Given the description of an element on the screen output the (x, y) to click on. 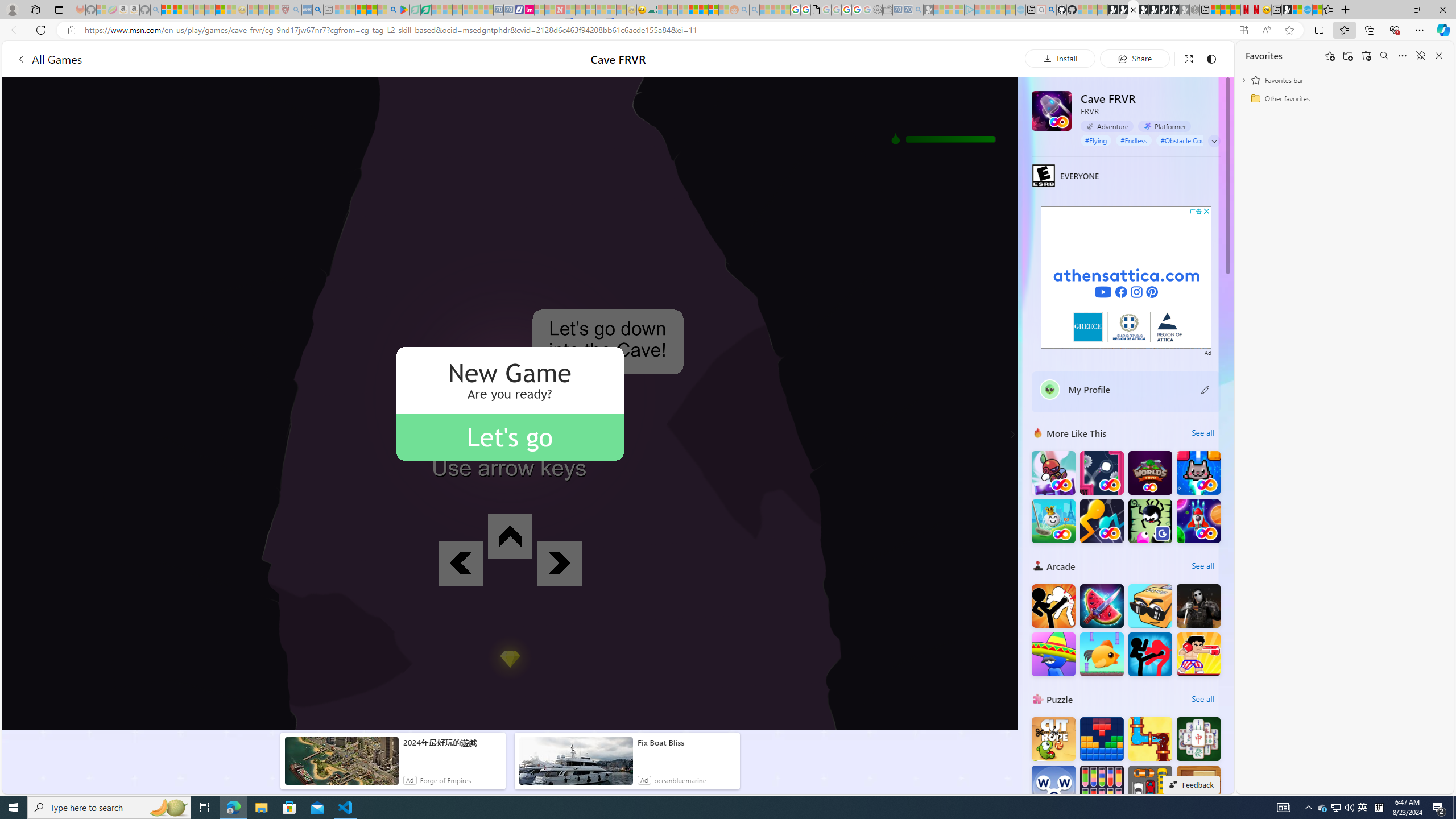
All Games (216, 58)
World - MSN (1297, 9)
Flappy Chicken (1101, 653)
Water Sort Quest : Mission (1101, 787)
